Given the description of an element on the screen output the (x, y) to click on. 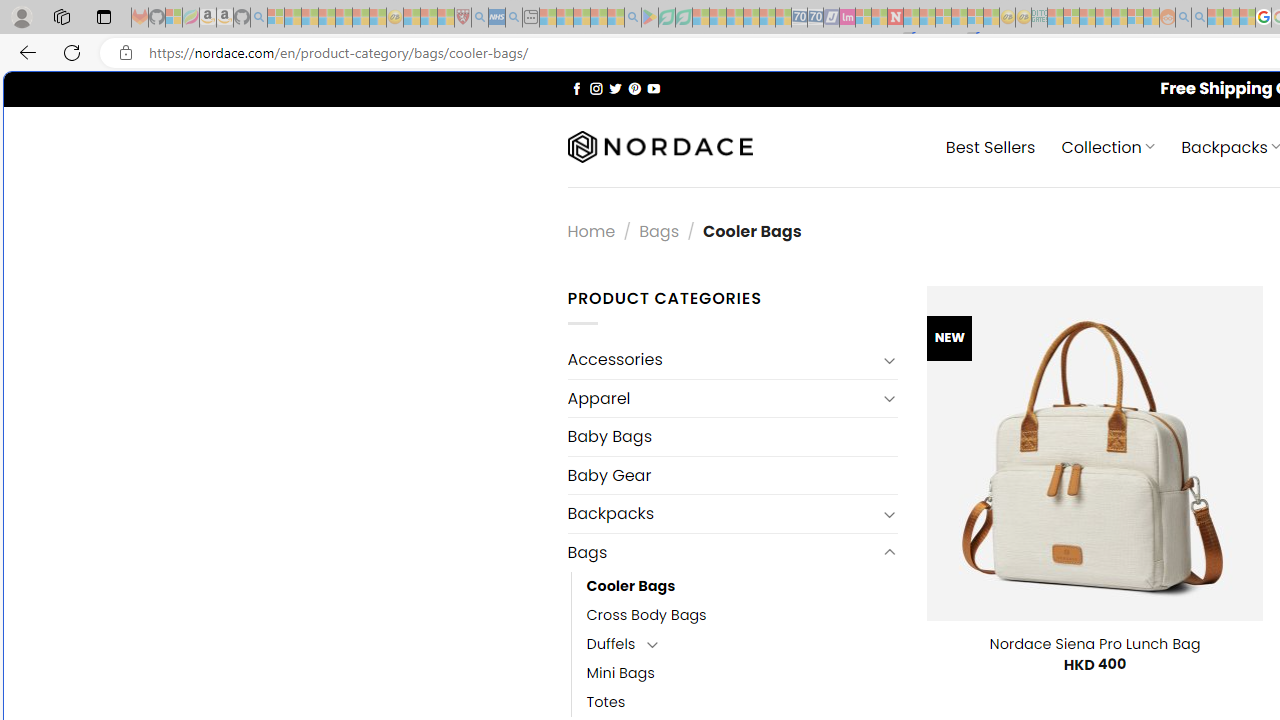
Mini Bags (620, 673)
Apparel (721, 398)
Cross Body Bags (742, 614)
